Given the description of an element on the screen output the (x, y) to click on. 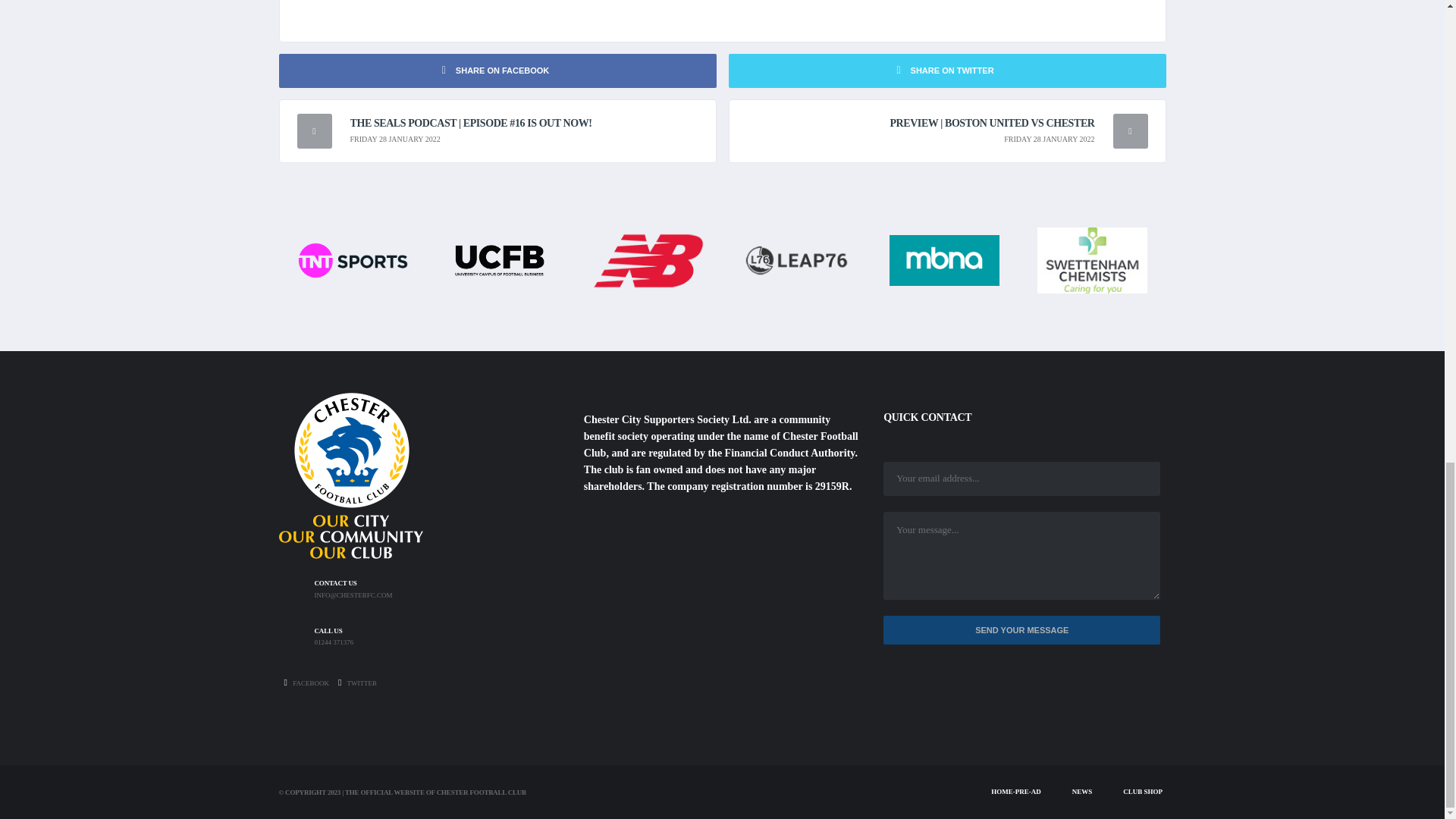
UCFB Logo (500, 259)
Send Your Message (1021, 630)
